Given the description of an element on the screen output the (x, y) to click on. 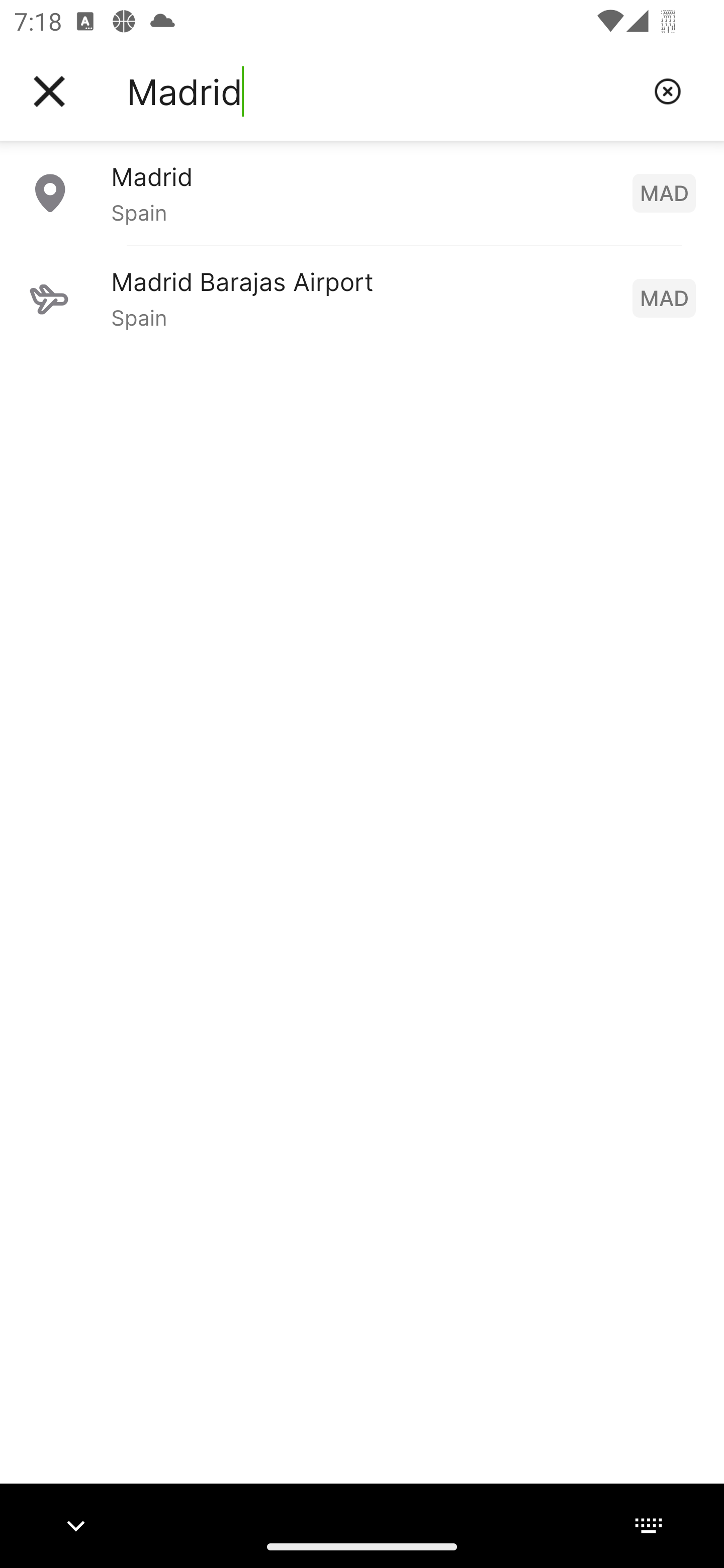
Madrid (382, 91)
Madrid Spain MAD (362, 192)
Madrid Barajas Airport Spain MAD (362, 297)
